Given the description of an element on the screen output the (x, y) to click on. 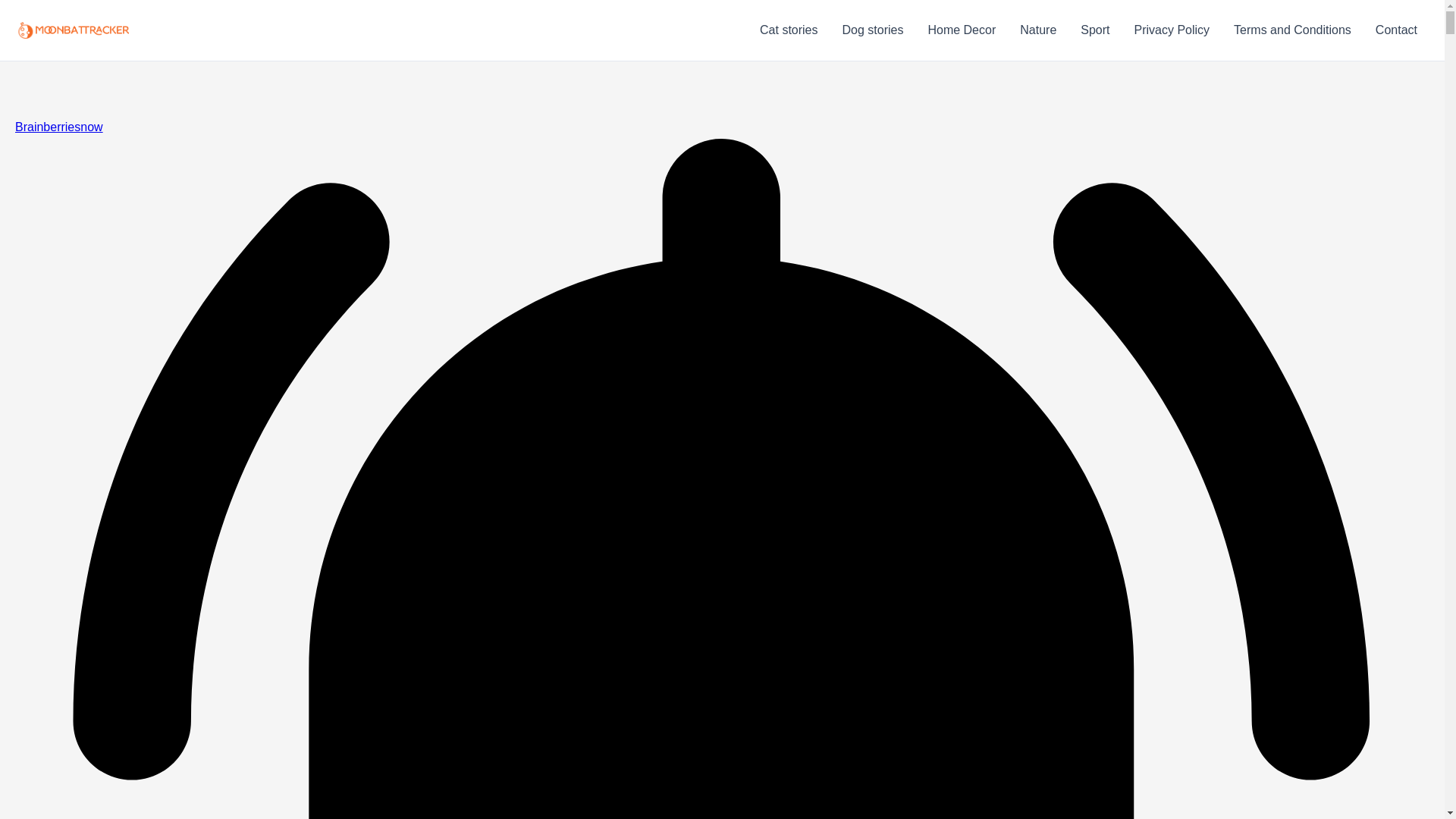
Dog stories (872, 30)
Home Decor (961, 30)
Privacy Policy (1172, 30)
Cat stories (788, 30)
Sport (1094, 30)
Contact (1395, 30)
Terms and Conditions (1291, 30)
Nature (1037, 30)
